Given the description of an element on the screen output the (x, y) to click on. 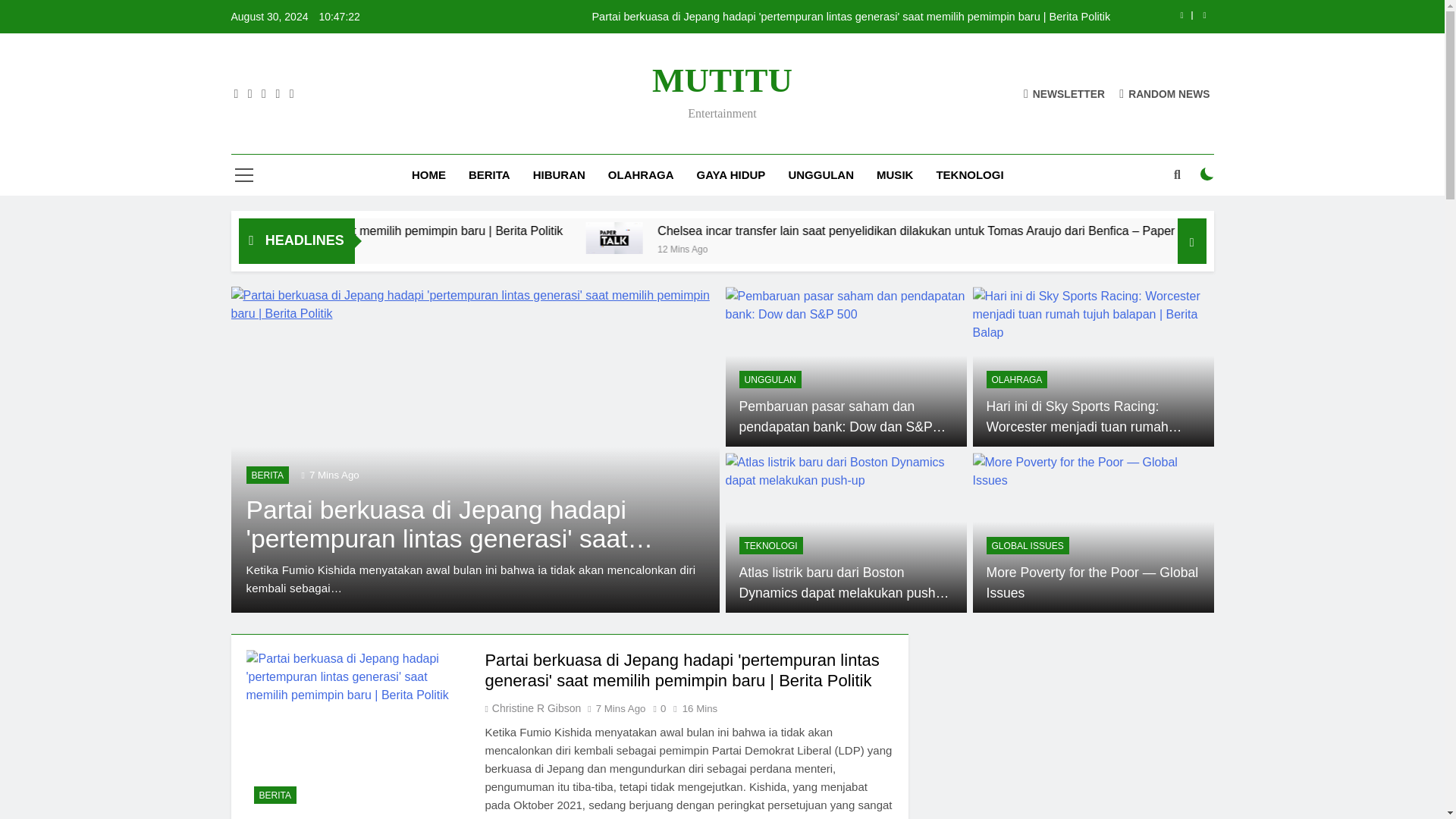
OLAHRAGA (640, 174)
12 Mins Ago (899, 247)
BERITA (489, 174)
HIBURAN (558, 174)
NEWSLETTER (1064, 92)
HOME (428, 174)
on (1206, 173)
MUSIK (894, 174)
MUTITU (722, 80)
GAYA HIDUP (731, 174)
